Given the description of an element on the screen output the (x, y) to click on. 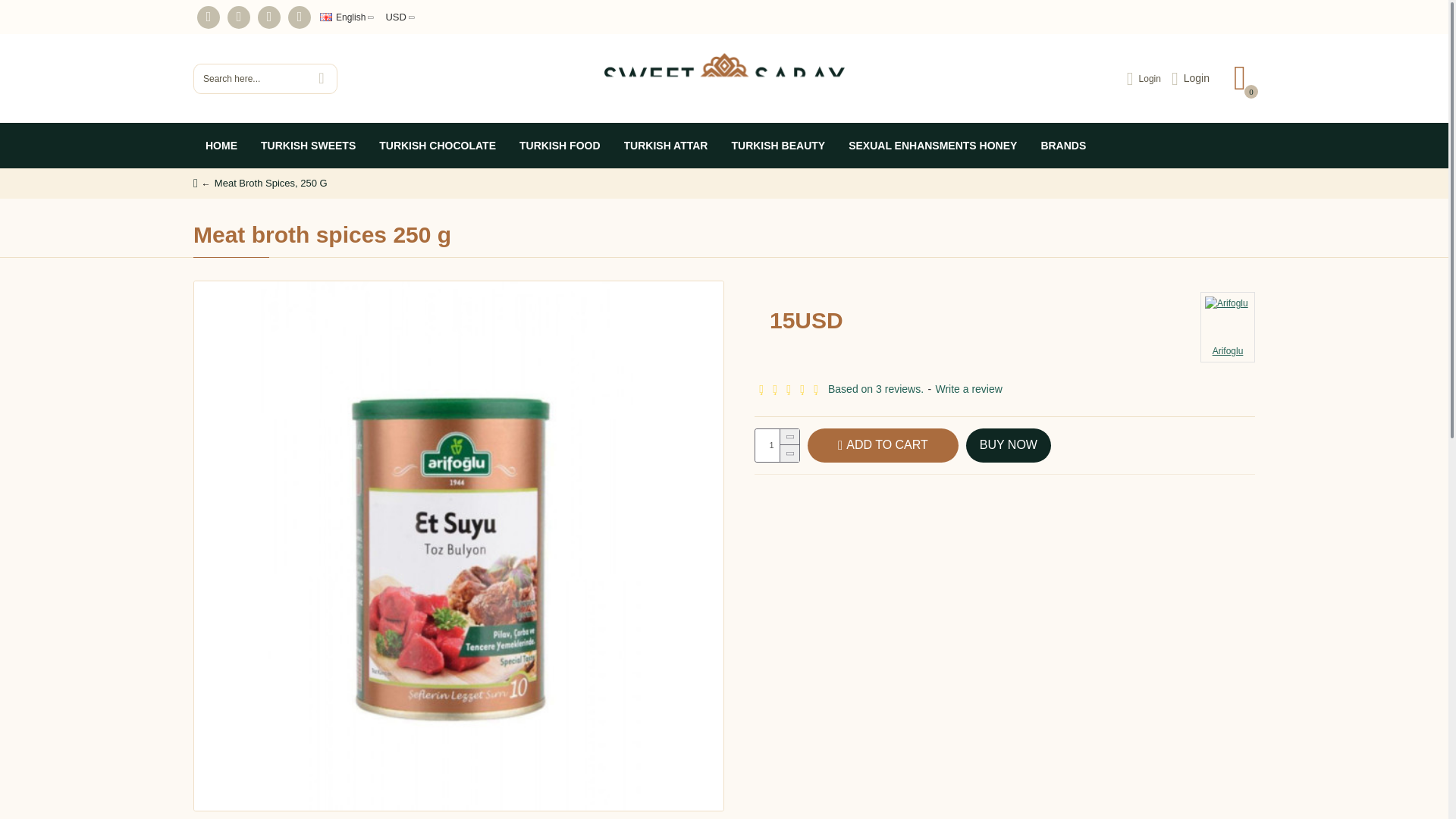
Login (1189, 77)
USD (393, 17)
English (342, 17)
TURKISH FOOD (558, 145)
1 (777, 445)
TURKISH SWEETS (307, 145)
English (325, 17)
Sweet Saray (724, 78)
HOME (220, 145)
0 (1239, 78)
Login (1143, 77)
TURKISH CHOCOLATE (436, 145)
